Given the description of an element on the screen output the (x, y) to click on. 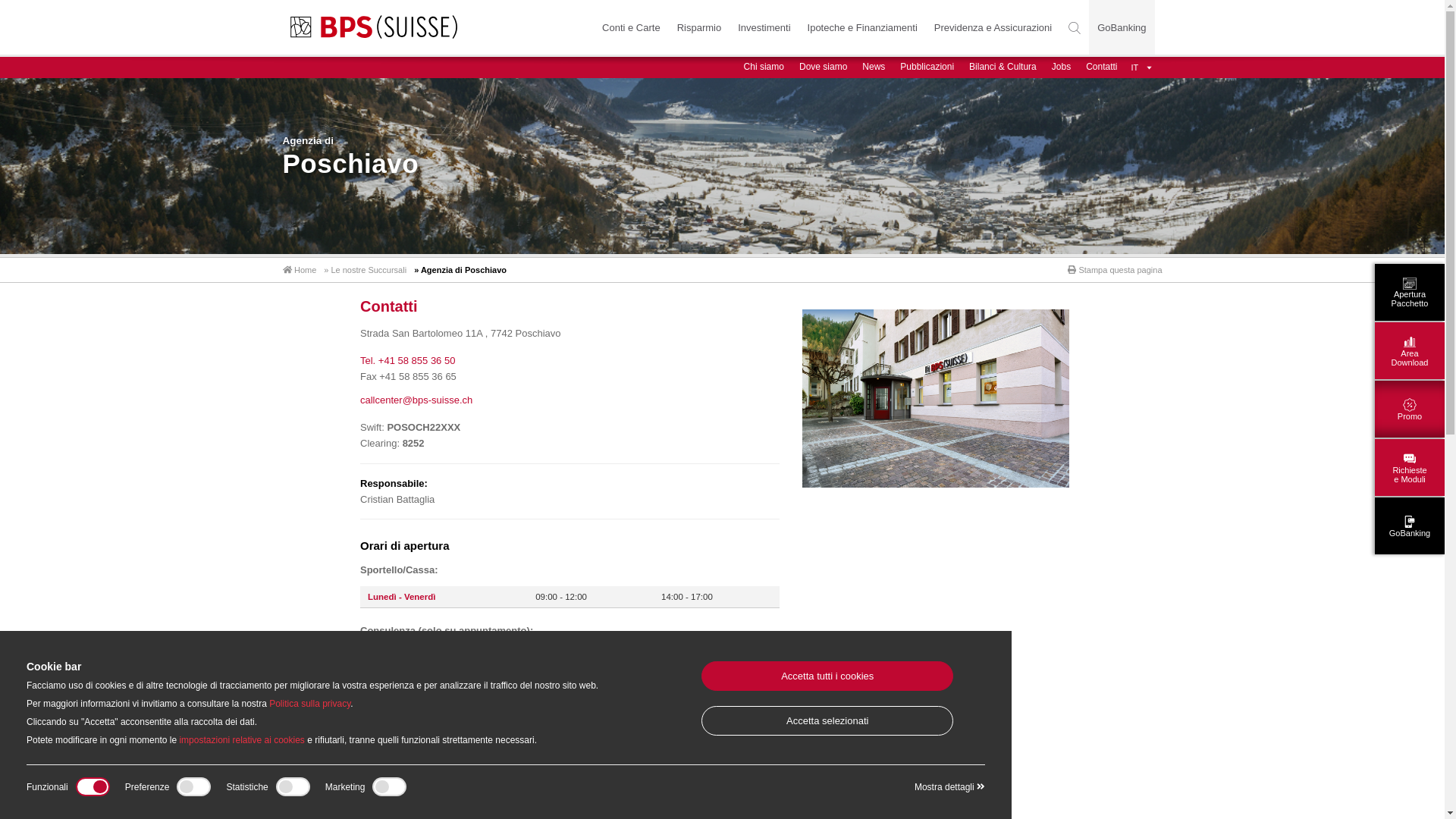
Risparmio Element type: text (699, 27)
Bilanci & Cultura Element type: text (1002, 66)
Promo Element type: text (1409, 408)
Chi siamo Element type: text (763, 66)
Jobs Element type: text (1061, 66)
Richieste
e Moduli Element type: text (1409, 466)
GoBanking Element type: text (1409, 525)
on Element type: text (369, 785)
callcenter@bps-suisse.ch Element type: text (416, 399)
Dove siamo Element type: text (822, 66)
GoBanking Element type: text (1121, 27)
on Element type: text (73, 785)
Conti e Carte Element type: text (630, 27)
Pubblicazioni Element type: text (926, 66)
on Element type: text (173, 785)
Tel. +41 58 855 36 50 Element type: text (407, 360)
Accetta selezionati Element type: text (827, 720)
Mostra dettagli Element type: text (949, 786)
Ipoteche e Finanziamenti Element type: text (862, 27)
Investimenti Element type: text (763, 27)
Accetta tutti i cookies Element type: text (827, 675)
impostazioni relative ai cookies Element type: text (241, 739)
Previdenza e Assicurazioni Element type: text (992, 27)
on Element type: text (273, 785)
Contatti Element type: text (1101, 66)
News Element type: text (873, 66)
Area
Download Element type: text (1409, 349)
Apertura
Pacchetto Element type: text (1409, 291)
Politica sulla privacy Element type: text (309, 703)
